Given the description of an element on the screen output the (x, y) to click on. 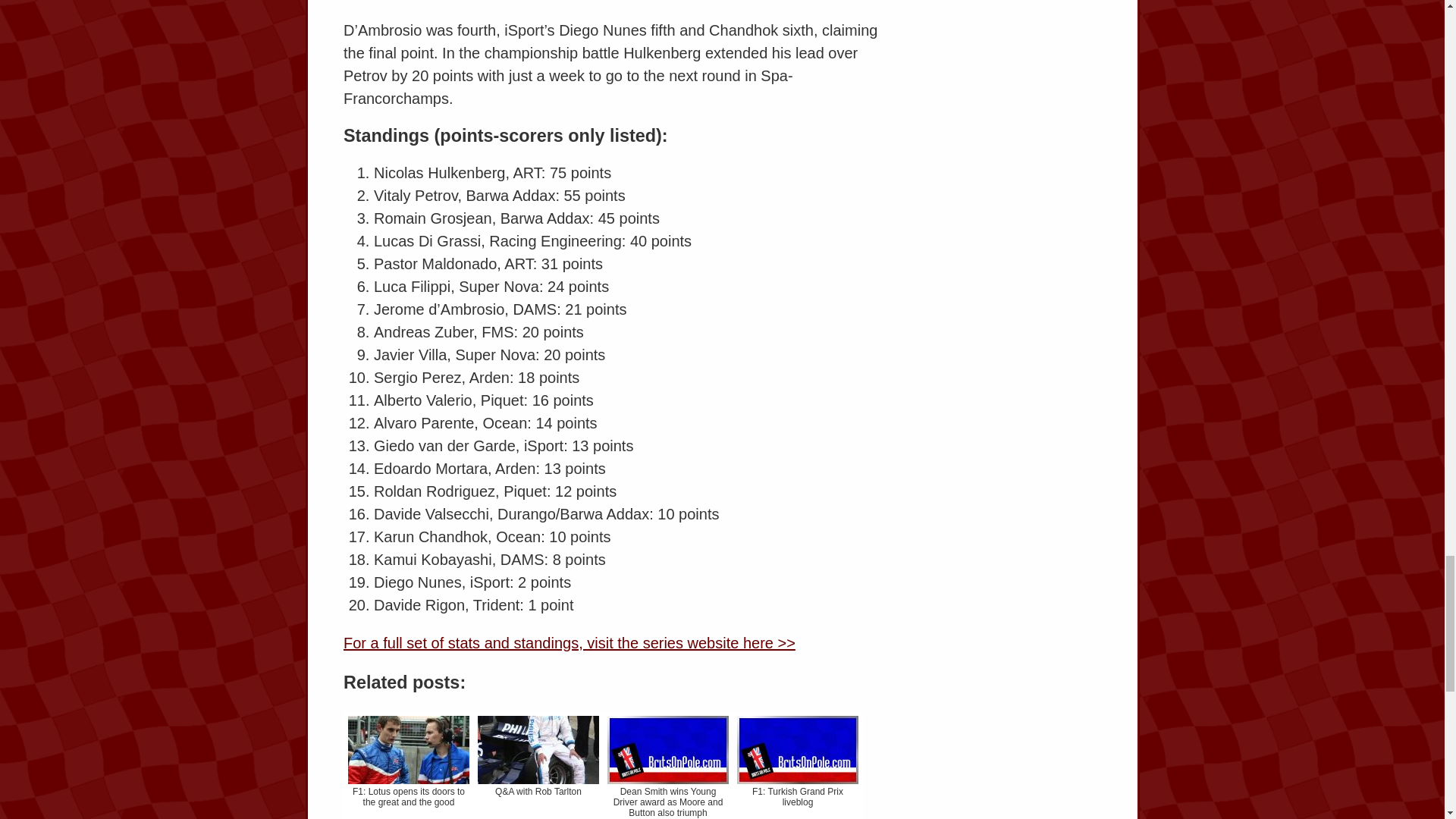
GP2 Series website (568, 642)
